Given the description of an element on the screen output the (x, y) to click on. 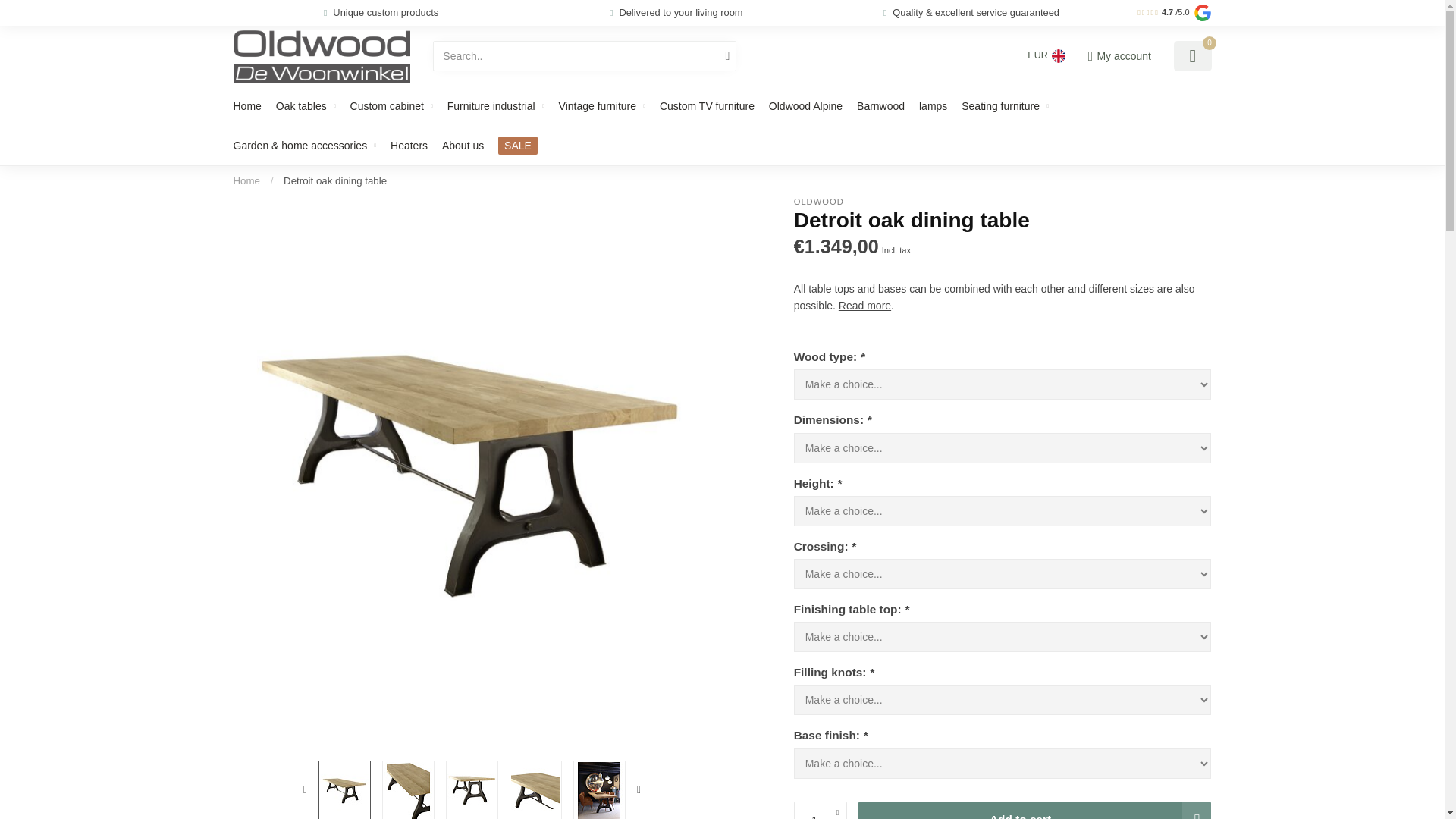
Barnwood (880, 106)
Heaters (409, 145)
Oldwood Alpine (805, 106)
lamps (932, 106)
0 (1192, 55)
Furniture industrial (495, 106)
Seating furniture (1004, 106)
Oak tables (306, 106)
1 (820, 810)
My account (1118, 55)
Custom TV furniture (706, 106)
About us (462, 145)
Home (247, 106)
Custom cabinet (391, 106)
Home (246, 180)
